Given the description of an element on the screen output the (x, y) to click on. 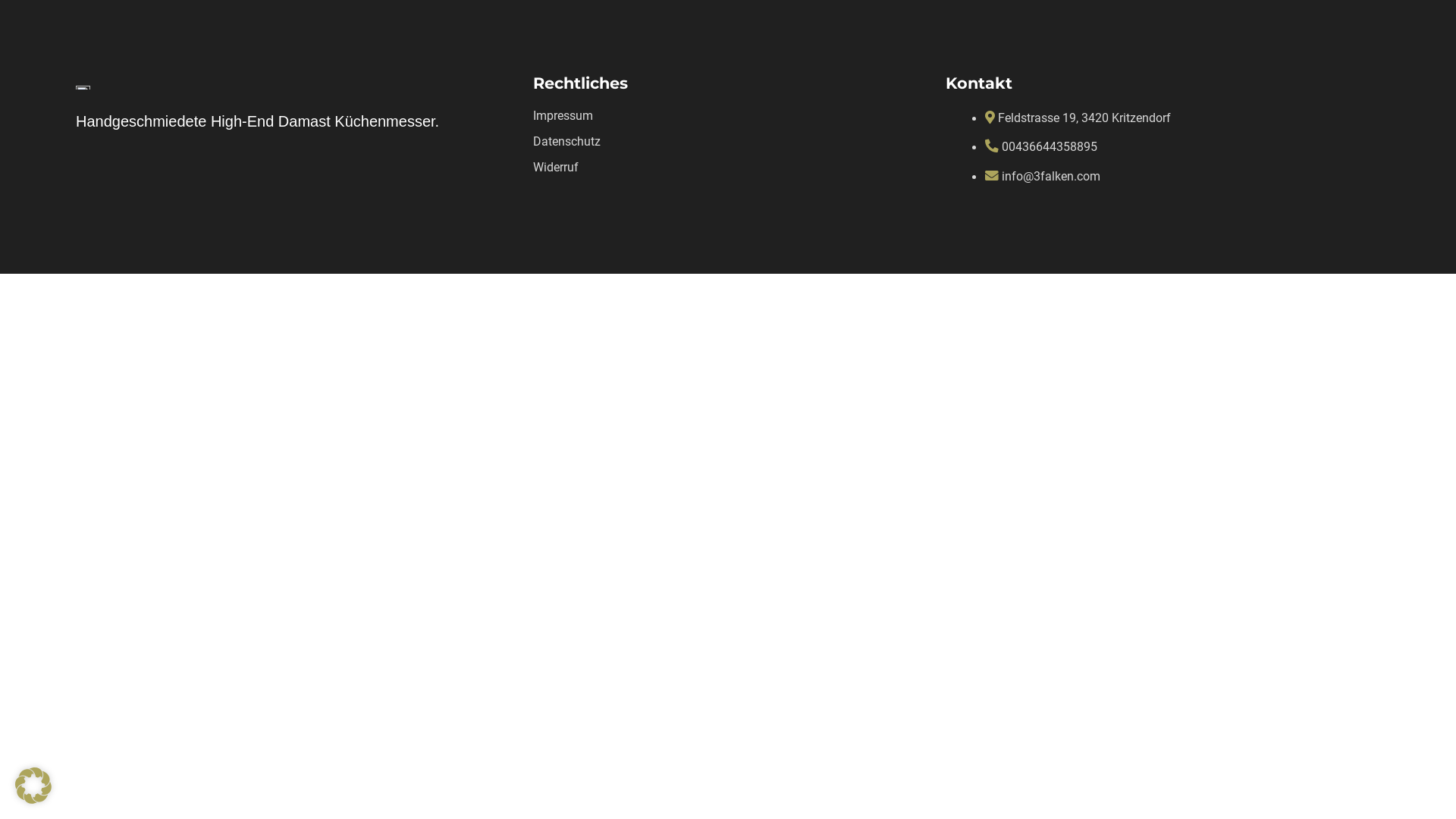
Impressum Element type: text (563, 115)
Widerruf Element type: text (555, 167)
Datenschutz Element type: text (566, 141)
